Given the description of an element on the screen output the (x, y) to click on. 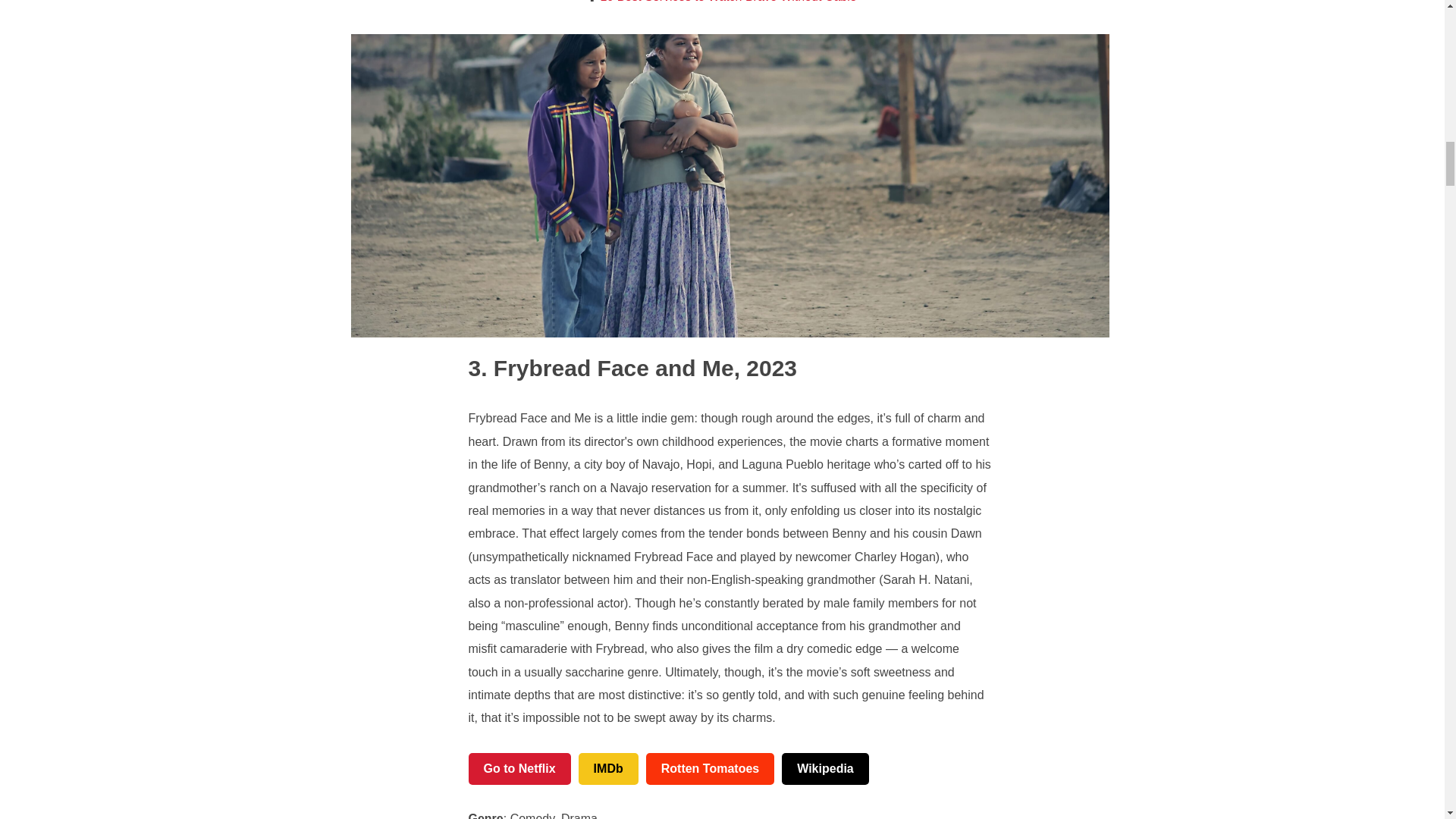
Frybread Face and Me (600, 367)
